Given the description of an element on the screen output the (x, y) to click on. 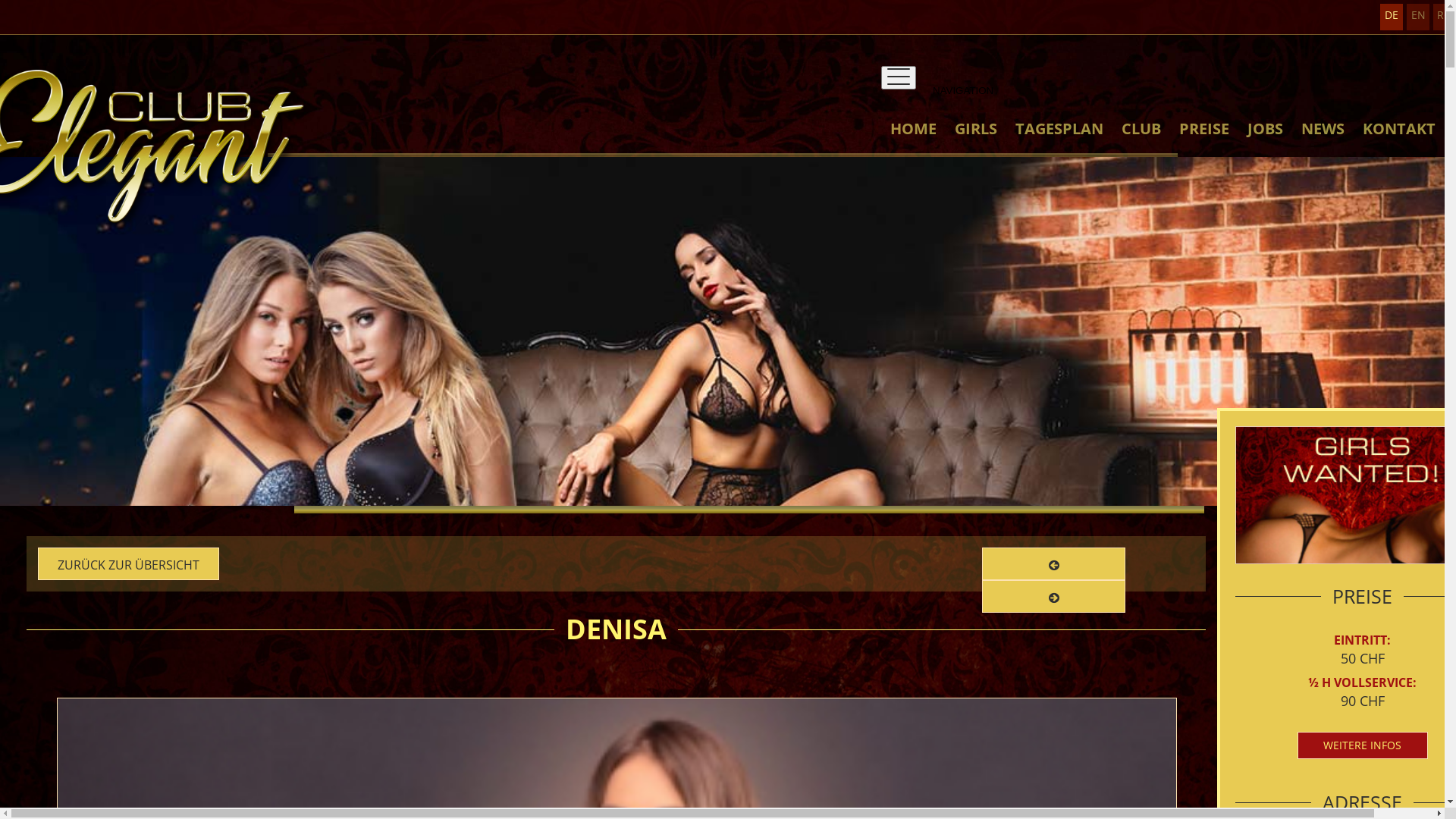
NEWS Element type: text (1322, 142)
Club Elegant Element type: hover (722, 457)
GIRLS Element type: text (975, 142)
EN Element type: text (1417, 16)
DE Element type: text (1391, 16)
PREISE Element type: text (1204, 142)
KONTAKT Element type: text (1398, 142)
TAGESPLAN Element type: text (1059, 142)
CLUB Element type: text (1141, 142)
JOBS Element type: text (1265, 142)
NAVIGATION Element type: text (898, 77)
WEITERE INFOS Element type: text (1361, 745)
HOME Element type: text (913, 142)
